Given the description of an element on the screen output the (x, y) to click on. 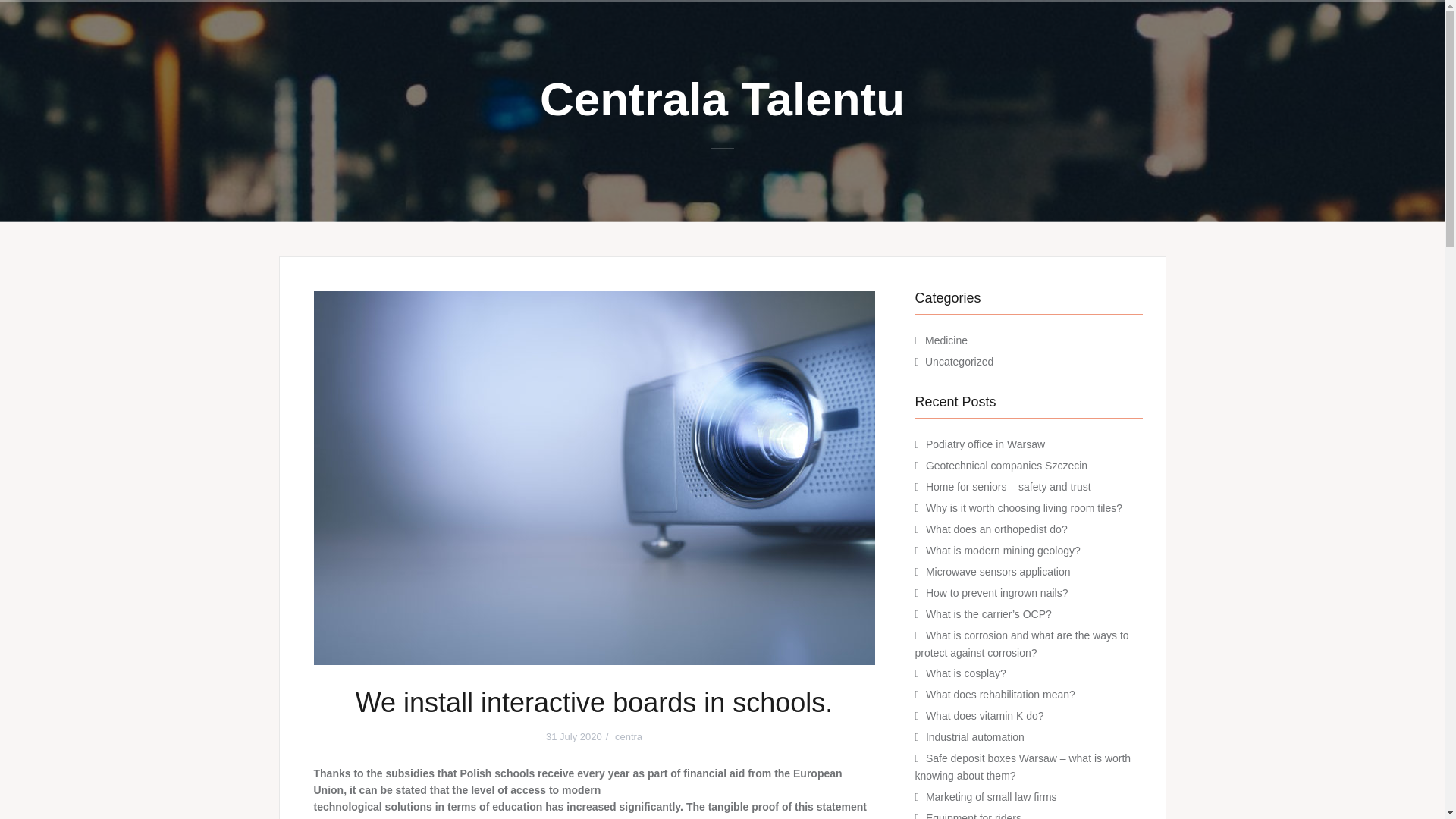
What is modern mining geology? (1003, 550)
Medicine (946, 340)
How to prevent ingrown nails? (997, 592)
Geotechnical companies Szczecin (1006, 465)
Why is it worth choosing living room tiles? (1024, 508)
31 July 2020 (574, 736)
Podiatry office in Warsaw (985, 444)
Uncategorized (958, 361)
What does an orthopedist do? (996, 529)
Centrala Talentu (722, 98)
centra (628, 736)
Microwave sensors application (998, 571)
